Given the description of an element on the screen output the (x, y) to click on. 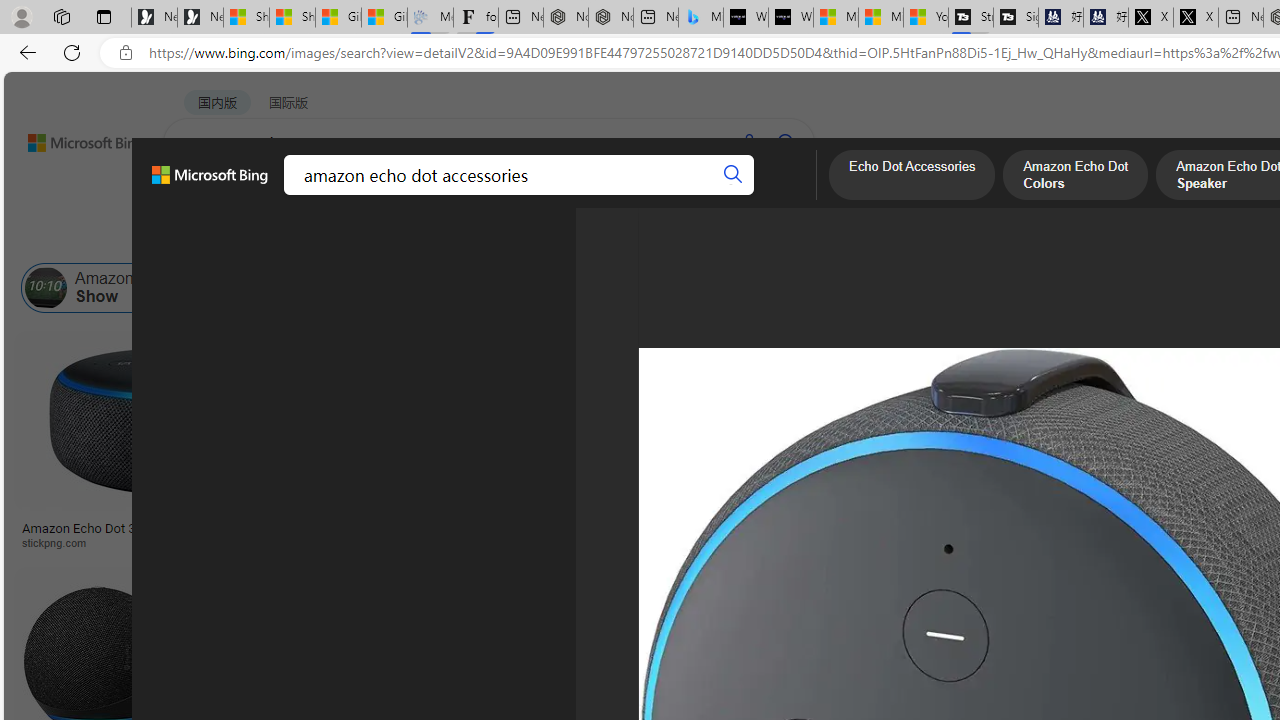
Echo Dot Accessories (397, 287)
Layout (443, 237)
Microsoft Bing, Back to Bing search (209, 183)
Type (373, 237)
Amazon Echo Dot Colors (1075, 177)
Amazon Echo 2nd Generation (999, 287)
Amazon Echo Dot with Clock (786, 287)
What's the best AI voice generator? - voice.ai (790, 17)
Amazon Echo Show (107, 287)
IMAGES (274, 196)
